Given the description of an element on the screen output the (x, y) to click on. 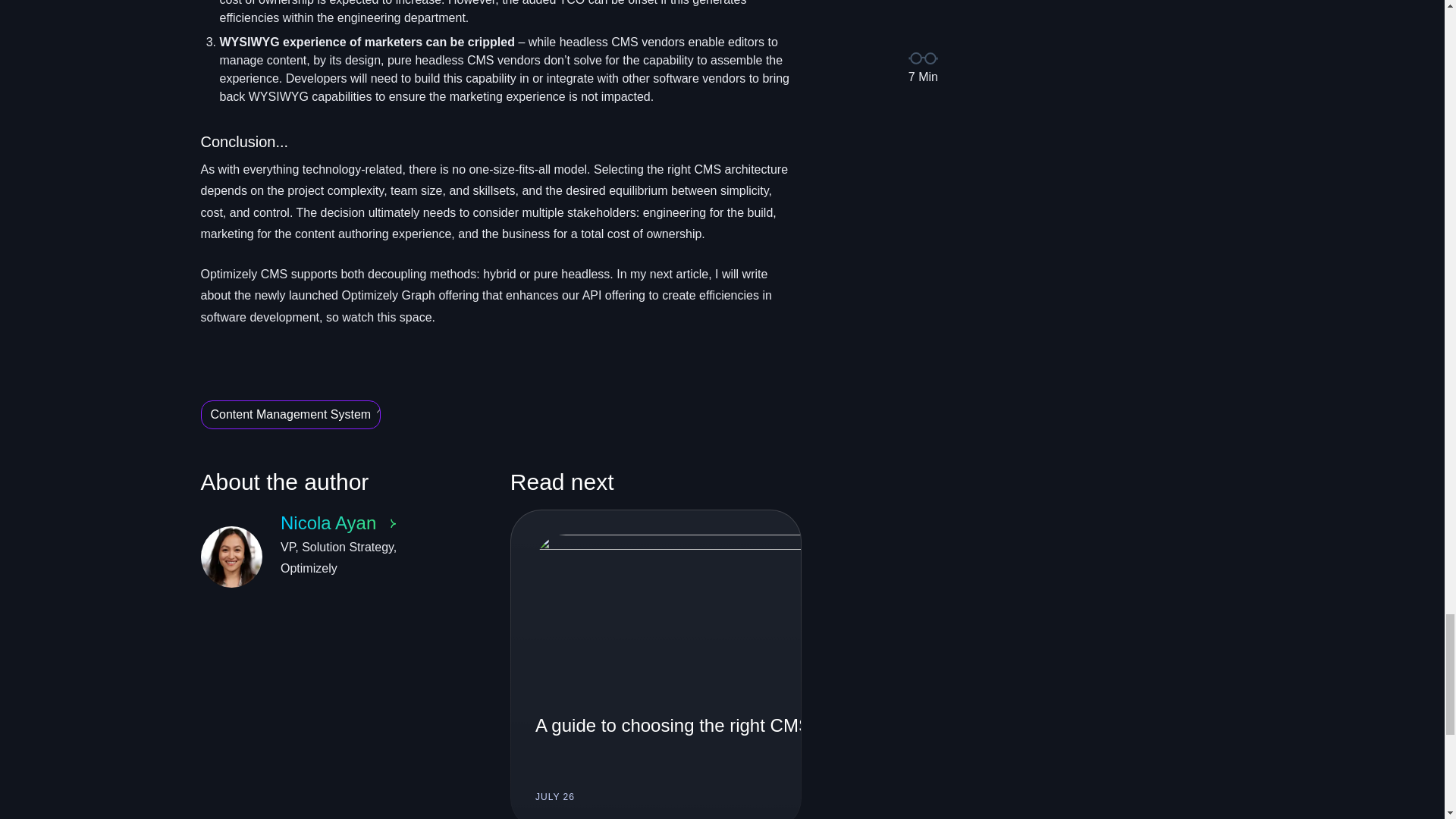
Content Management System (319, 556)
